Given the description of an element on the screen output the (x, y) to click on. 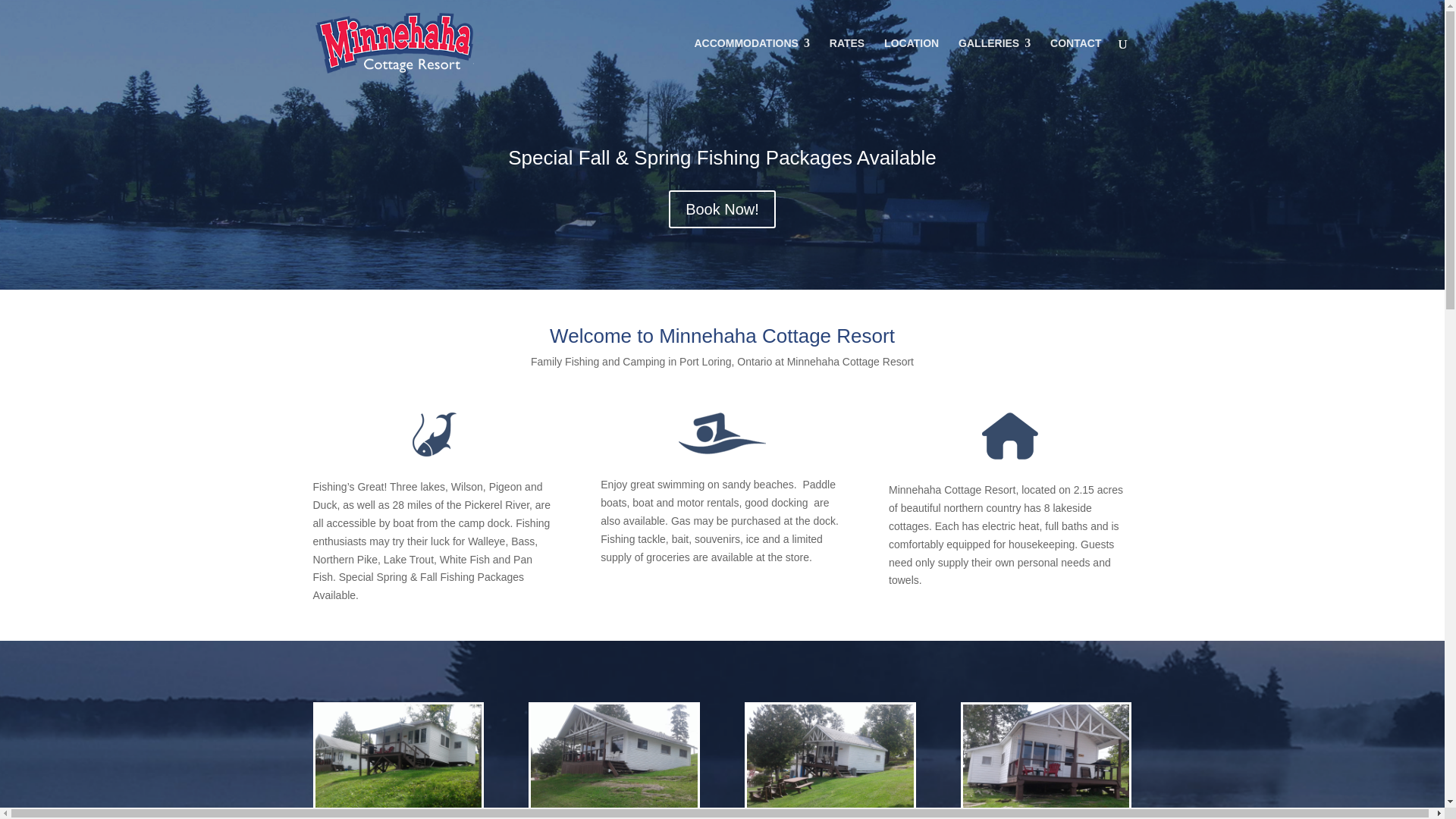
GALLERIES (994, 61)
ACCOMMODATIONS (751, 61)
CONTACT (1074, 61)
Book Now! (722, 209)
LOCATION (911, 61)
